Given the description of an element on the screen output the (x, y) to click on. 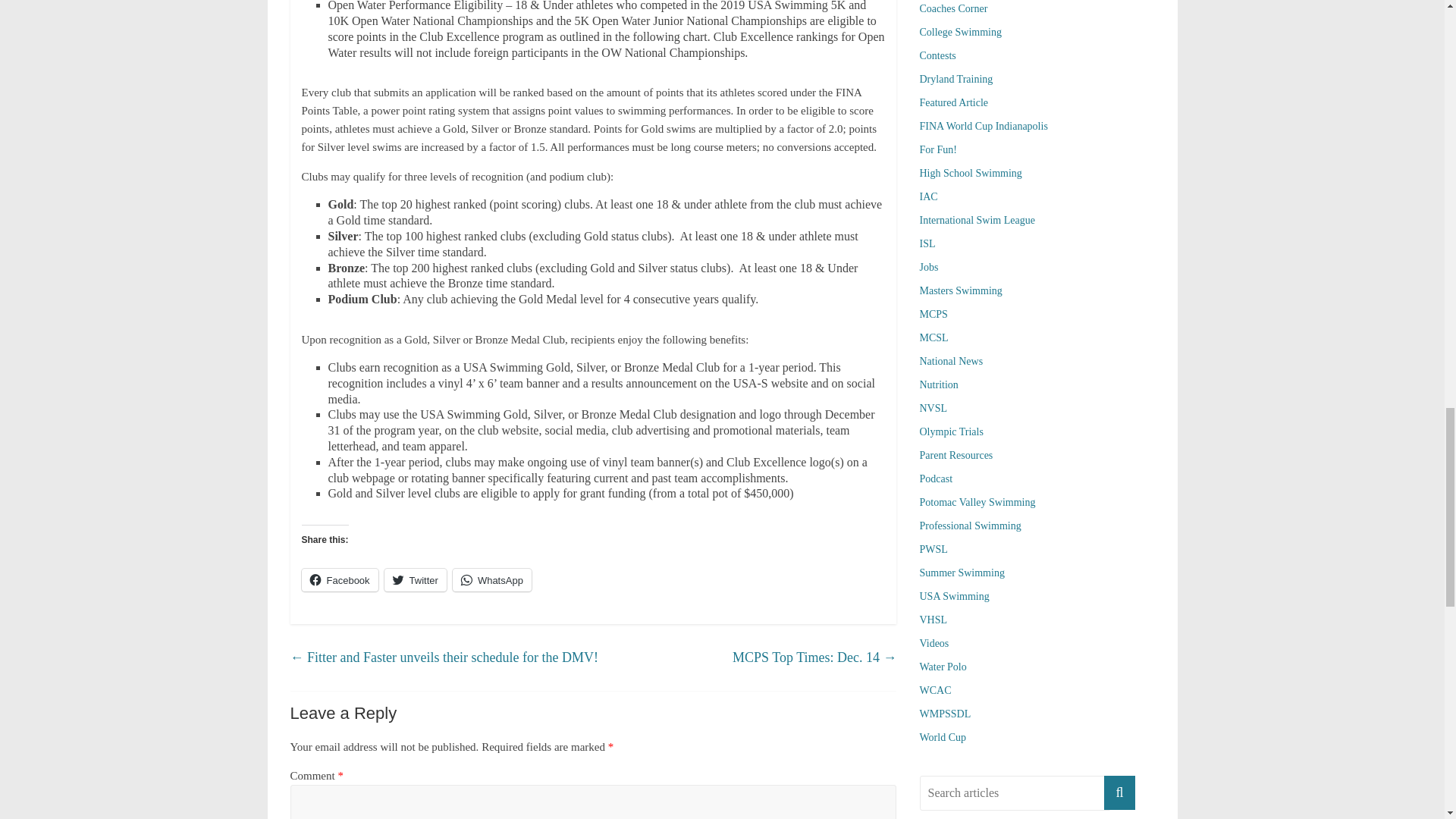
Twitter (415, 579)
Coaches Corner (952, 8)
Click to share on Facebook (339, 579)
Contests (936, 55)
Click to share on WhatsApp (491, 579)
WhatsApp (491, 579)
Facebook (339, 579)
College Swimming (959, 31)
Click to share on Twitter (415, 579)
